Given the description of an element on the screen output the (x, y) to click on. 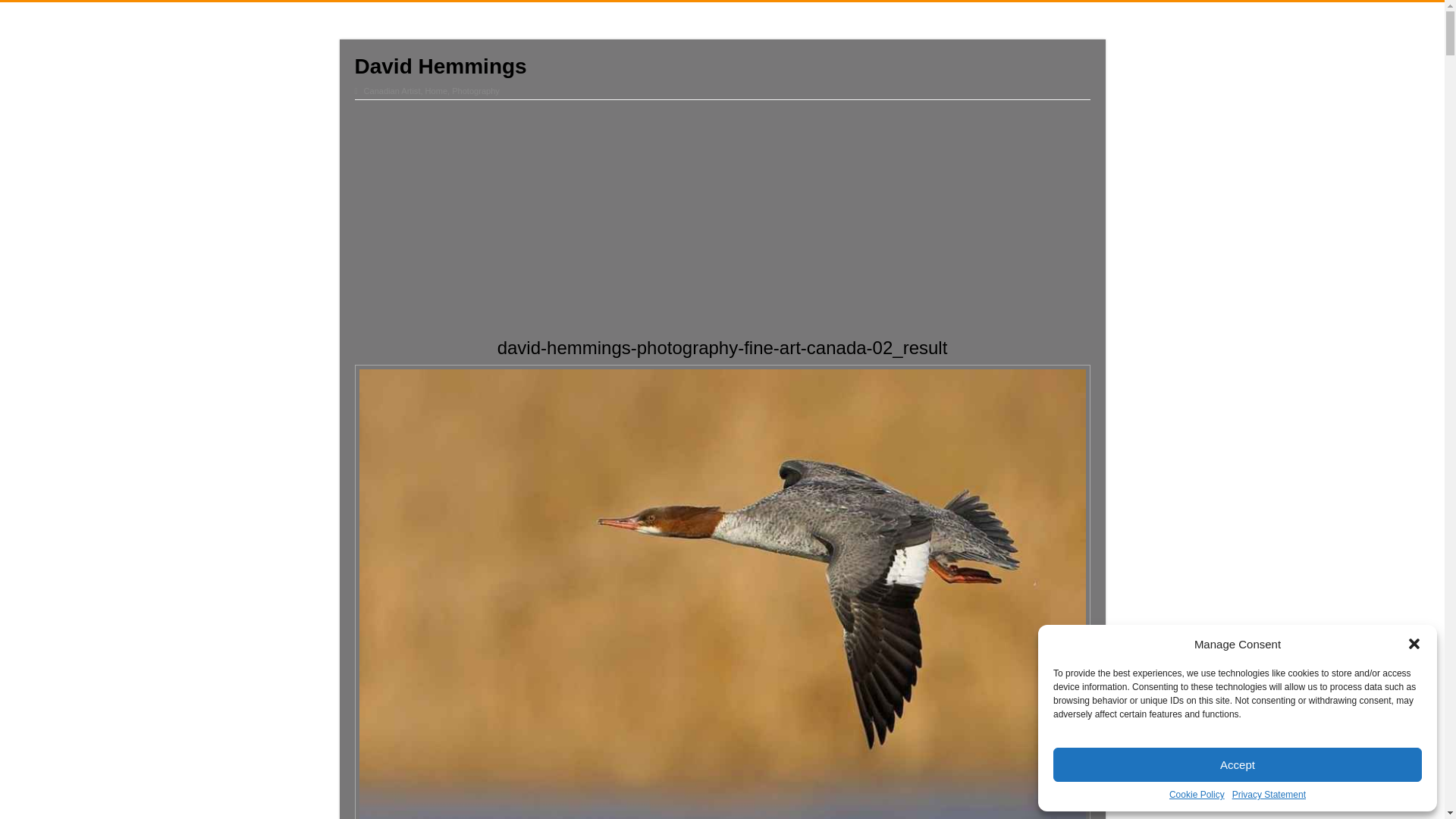
Canadian Artist (392, 90)
Accept (1237, 764)
Cookie Policy (1196, 794)
Photography (475, 90)
Privacy Statement (1268, 794)
Home (435, 90)
